Given the description of an element on the screen output the (x, y) to click on. 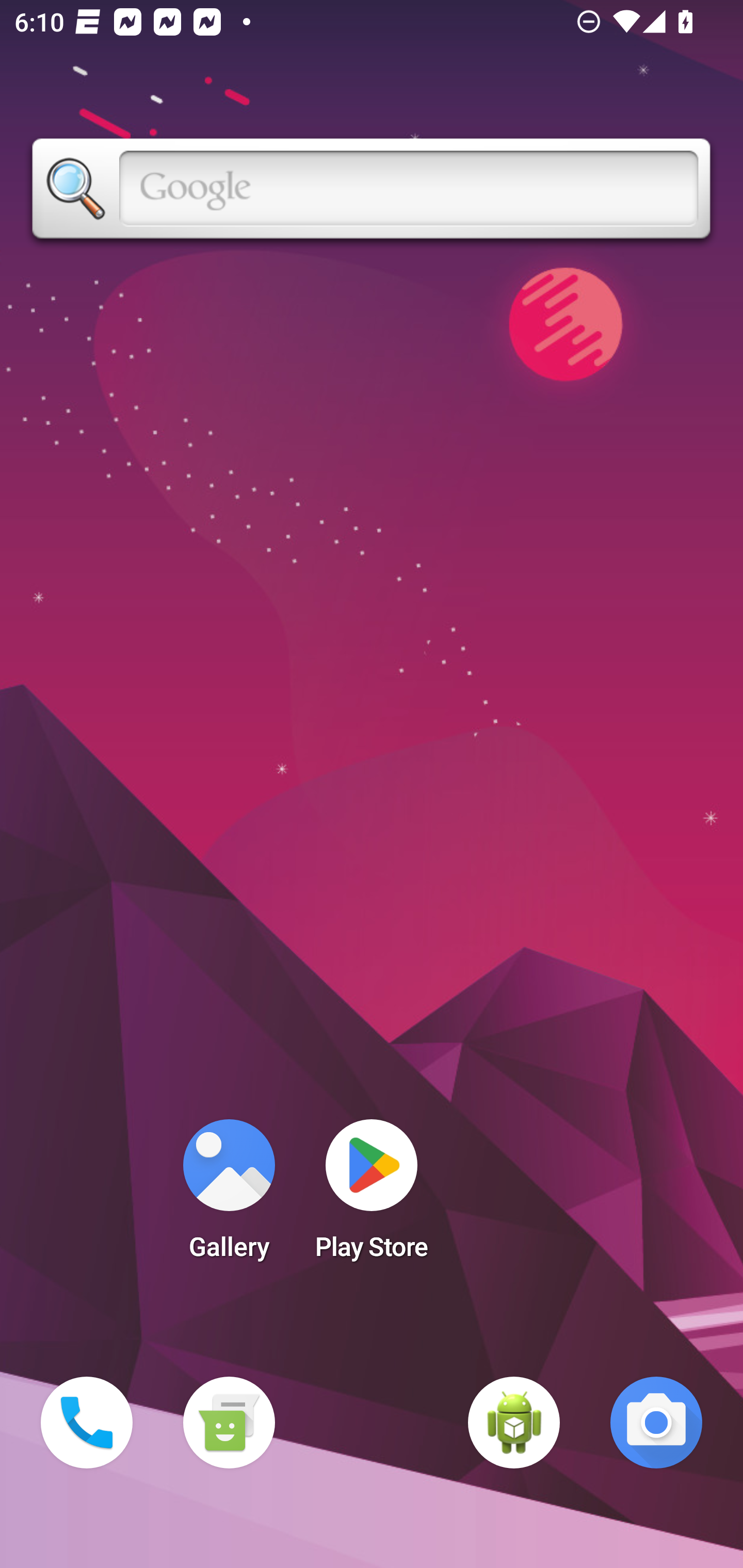
Gallery (228, 1195)
Play Store (371, 1195)
Phone (86, 1422)
Messaging (228, 1422)
WebView Browser Tester (513, 1422)
Camera (656, 1422)
